Given the description of an element on the screen output the (x, y) to click on. 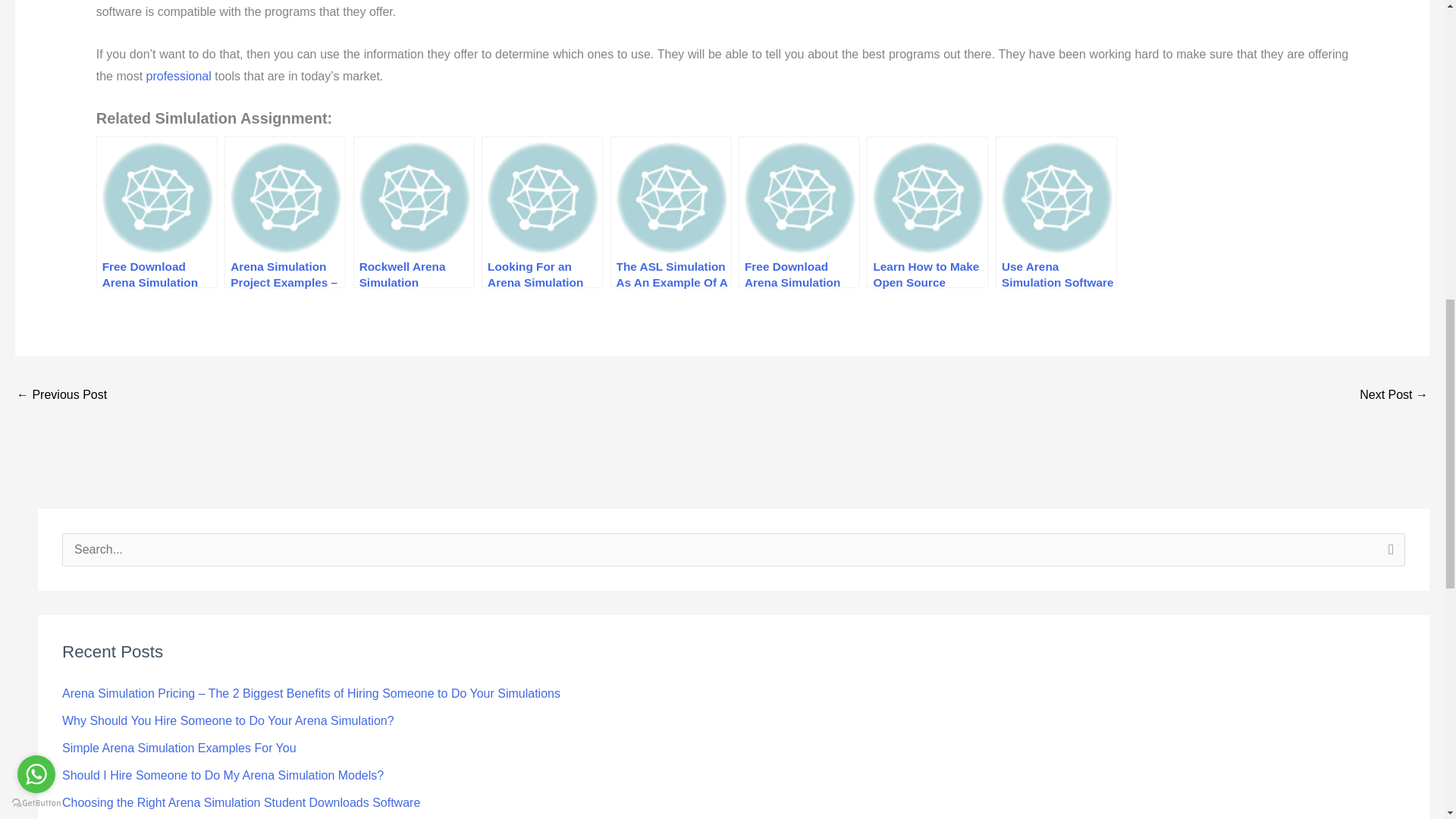
Simple Arena Simulation Examples For You (179, 748)
Should I Hire Someone to Do My Arena Simulation Models? (223, 775)
Why Should You Hire Someone to Do Your Arena Simulation? (228, 720)
professional (179, 75)
How To Choose Arena Simulation Courses (61, 396)
Rockwell Arena Simulation - Parking Lot Animation Design (1393, 396)
